Given the description of an element on the screen output the (x, y) to click on. 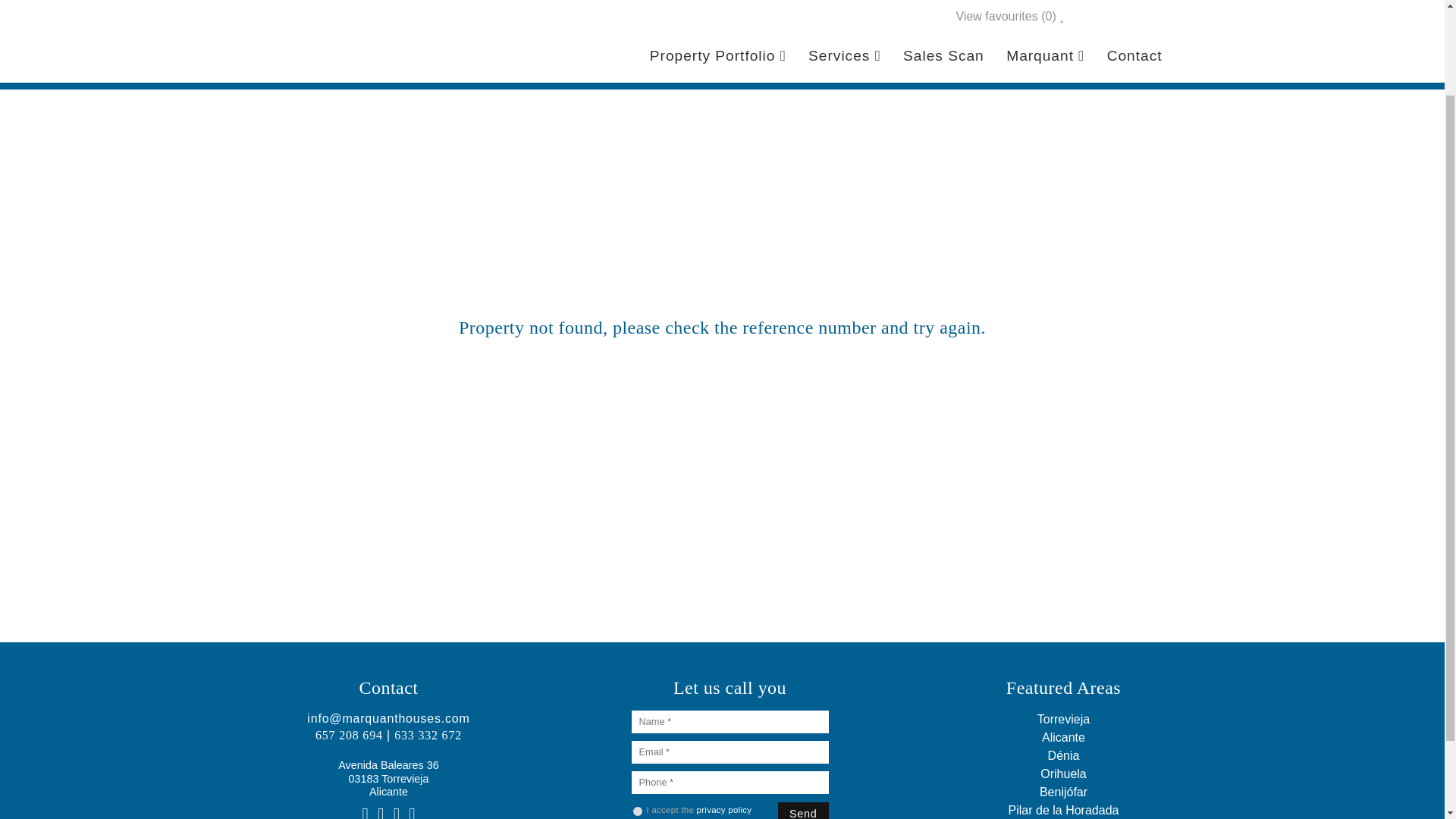
Search (1115, 24)
privacy policy (724, 809)
Search (1115, 24)
Property type (380, 24)
Orihuela (1063, 773)
633 332 672 (427, 735)
Area (575, 27)
657 208 694 (348, 735)
Alicante (1063, 737)
Pilar de la Horadada (1064, 809)
